Given the description of an element on the screen output the (x, y) to click on. 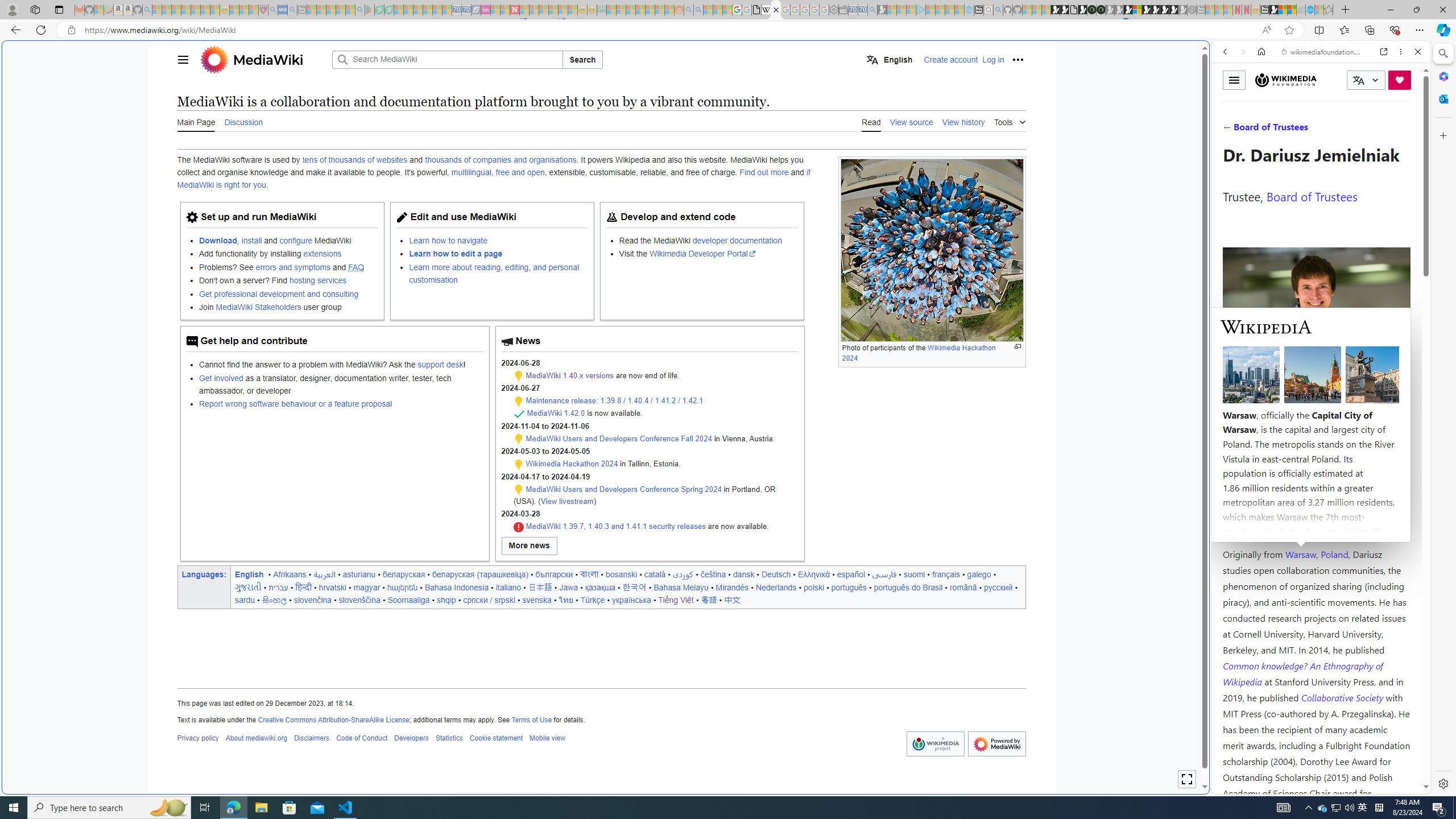
tens of thousands of websites (354, 159)
MSNBC - MSN - Sleeping (611, 9)
Terms of Use Agreement - Sleeping (378, 9)
MediaWiki (262, 59)
English (248, 574)
Web scope (1230, 102)
Local - MSN - Sleeping (253, 9)
